Given the description of an element on the screen output the (x, y) to click on. 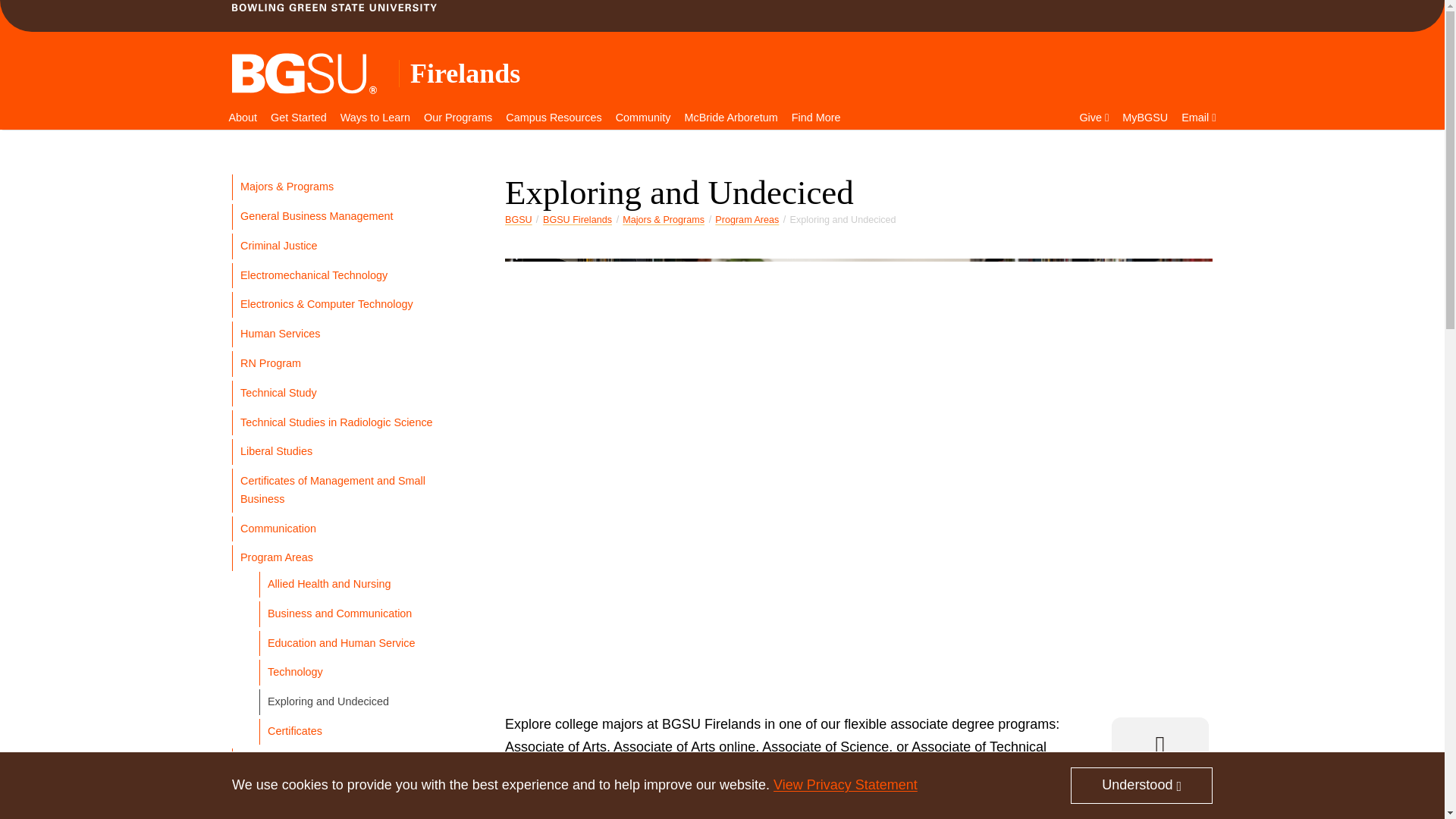
Understood  (1141, 785)
Firelands (464, 73)
View Privacy Statement (845, 784)
